Given the description of an element on the screen output the (x, y) to click on. 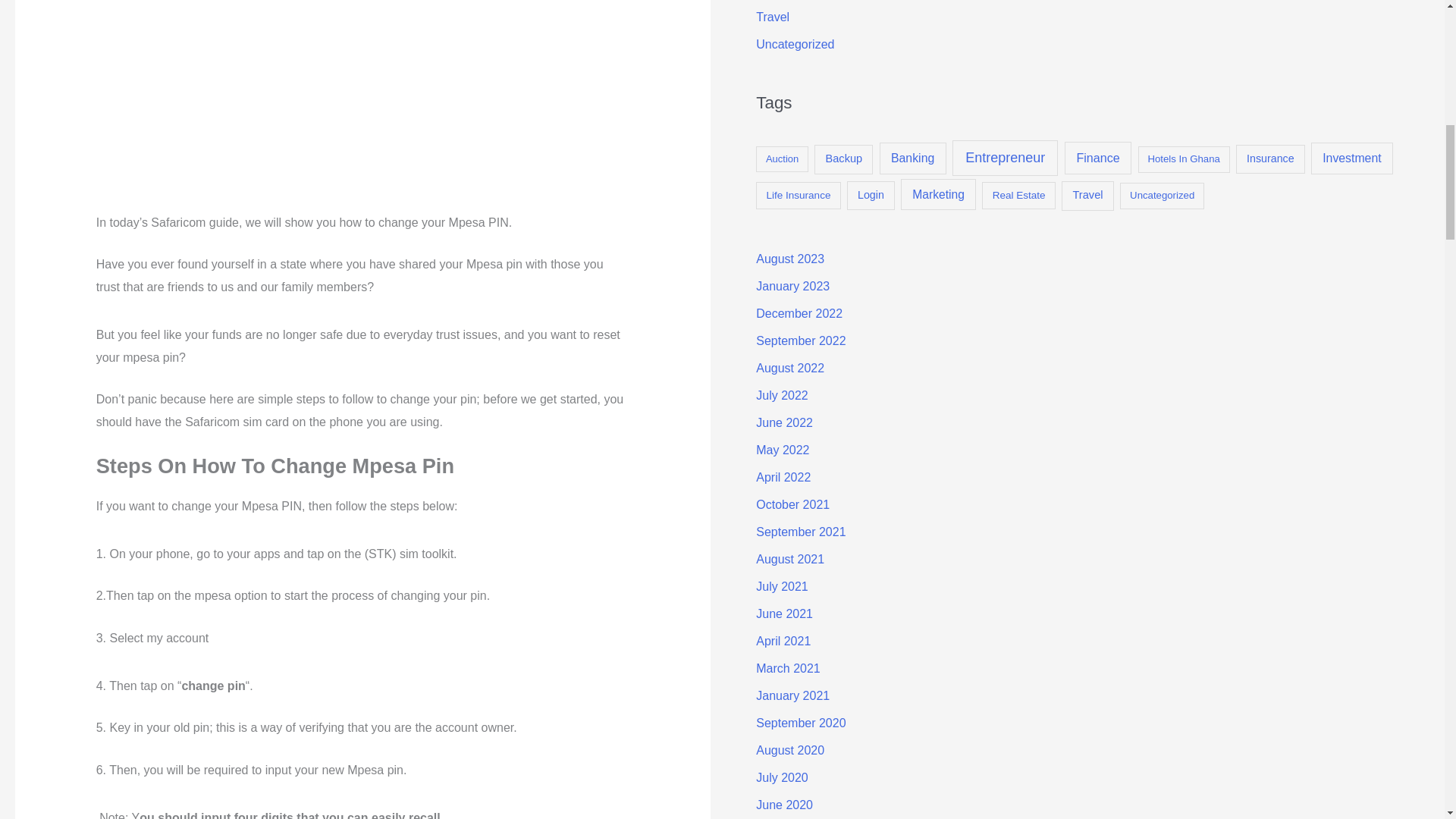
Advertisement (338, 102)
